Given the description of an element on the screen output the (x, y) to click on. 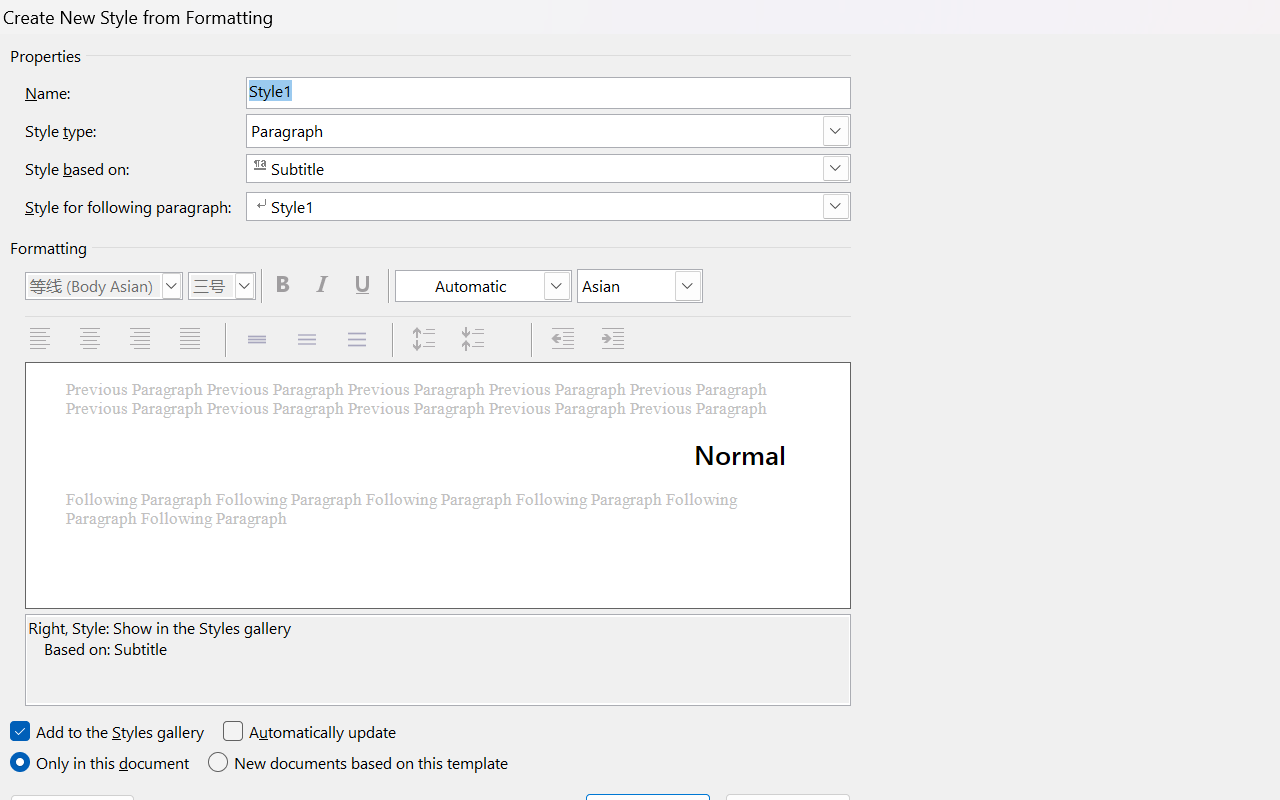
Bold (285, 285)
Decrease Indent (564, 339)
Increase Indent (615, 339)
Formatting script (639, 285)
Italic (325, 285)
Increase Paragraph Spacing (426, 339)
MSO Generic Control Container (104, 286)
Double Spacing (359, 339)
RichEdit Control (548, 92)
Only in this document (101, 763)
Style type: (548, 130)
Font Color (Automatic) (483, 286)
Decrease Paragraph Spacing (476, 339)
Align Left (42, 339)
